Given the description of an element on the screen output the (x, y) to click on. 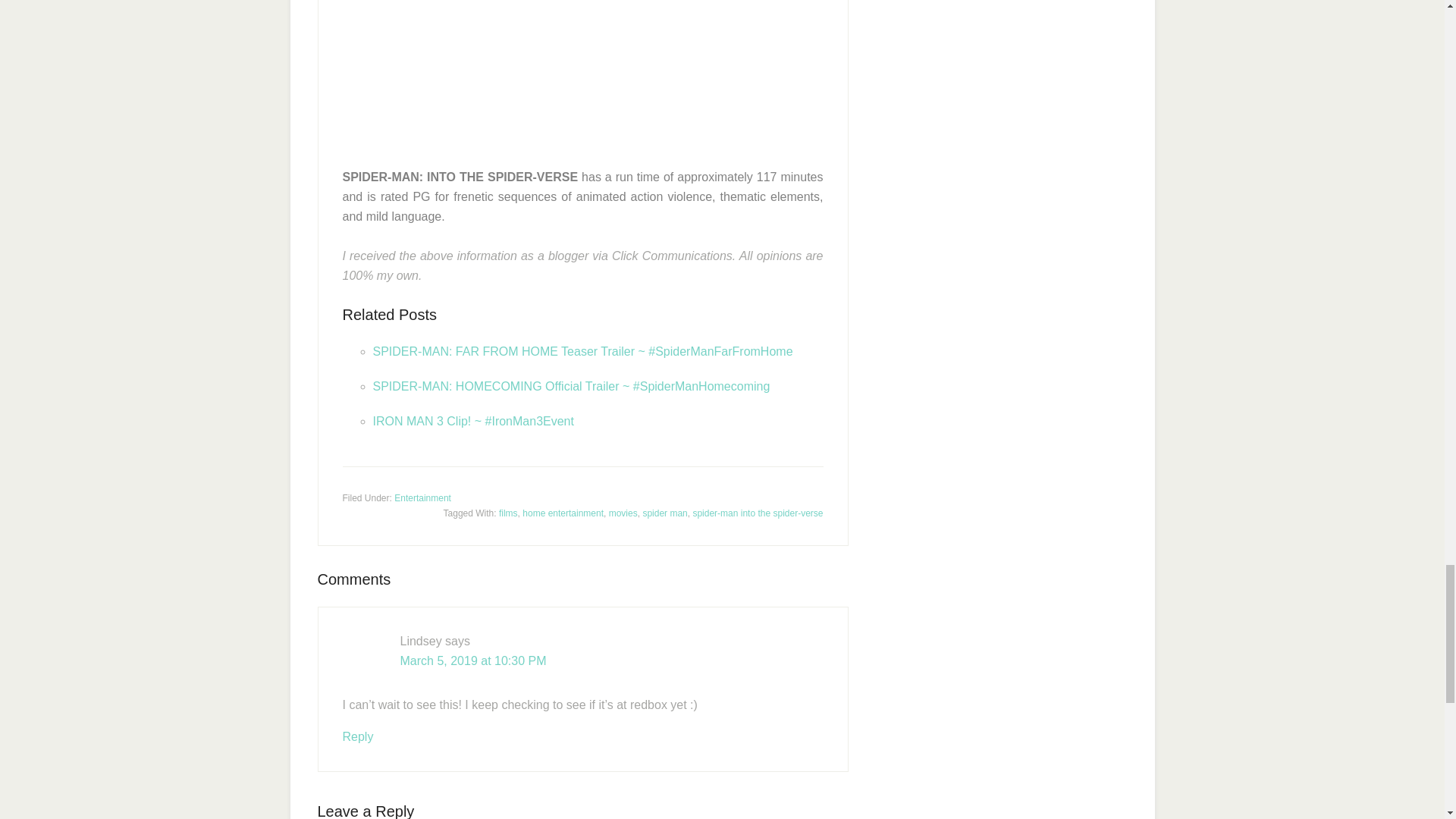
Entertainment (422, 498)
home entertainment (563, 512)
films (508, 512)
spider-man into the spider-verse (757, 512)
Reply (358, 736)
spider man (664, 512)
March 5, 2019 at 10:30 PM (473, 660)
movies (622, 512)
